Given the description of an element on the screen output the (x, y) to click on. 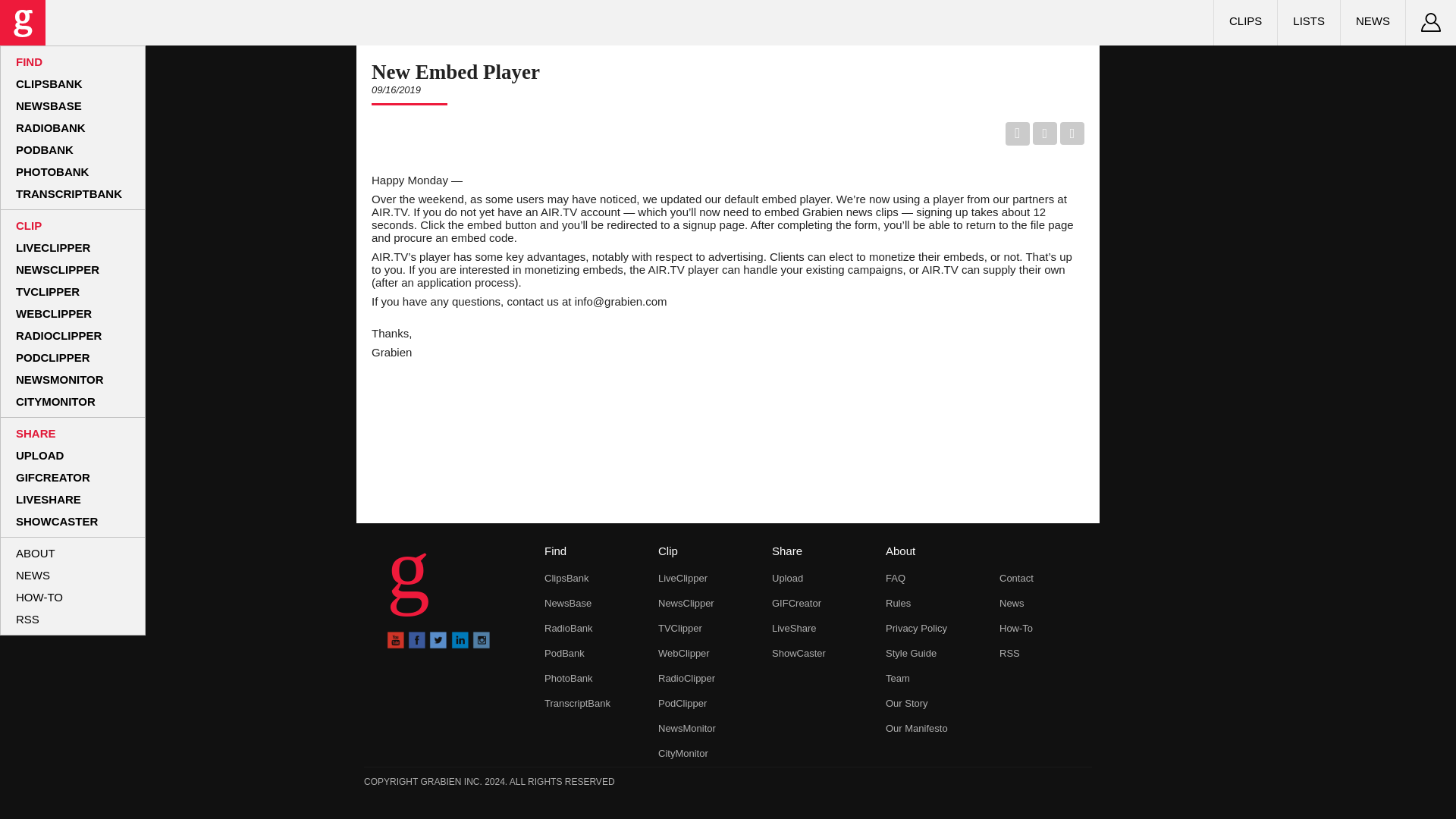
LIVECLIPPER (53, 246)
LISTS (1308, 20)
NewsBase (567, 603)
ClipsBank (566, 577)
PODCLIPPER (53, 357)
NEWSCLIPPER (57, 269)
TVCLIPPER (48, 291)
NEWS (32, 574)
LIVESHARE (48, 499)
PHOTOBANK (52, 171)
PodBank (564, 653)
WEBCLIPPER (53, 313)
TranscriptBank (577, 703)
RADIOBANK (50, 127)
ABOUT (35, 553)
